Given the description of an element on the screen output the (x, y) to click on. 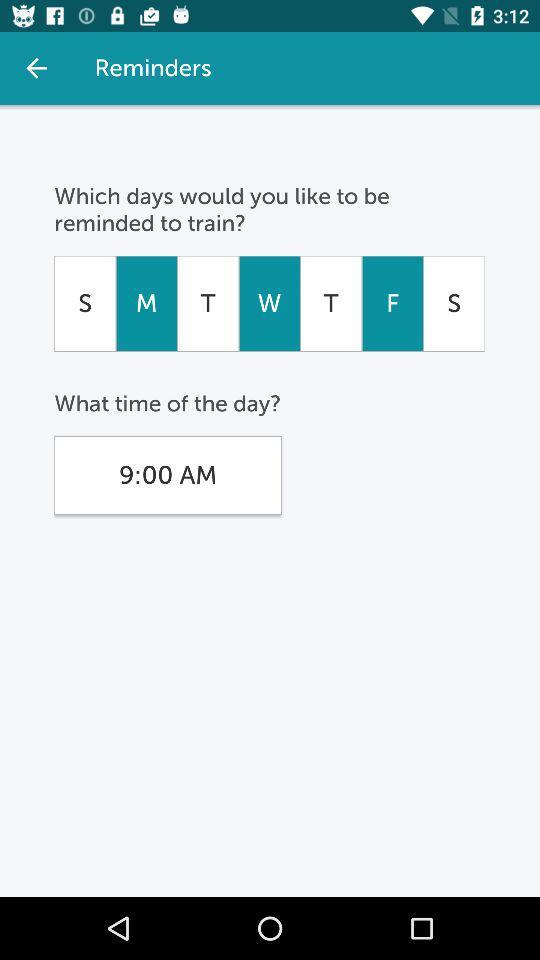
click item below which days would (392, 303)
